Given the description of an element on the screen output the (x, y) to click on. 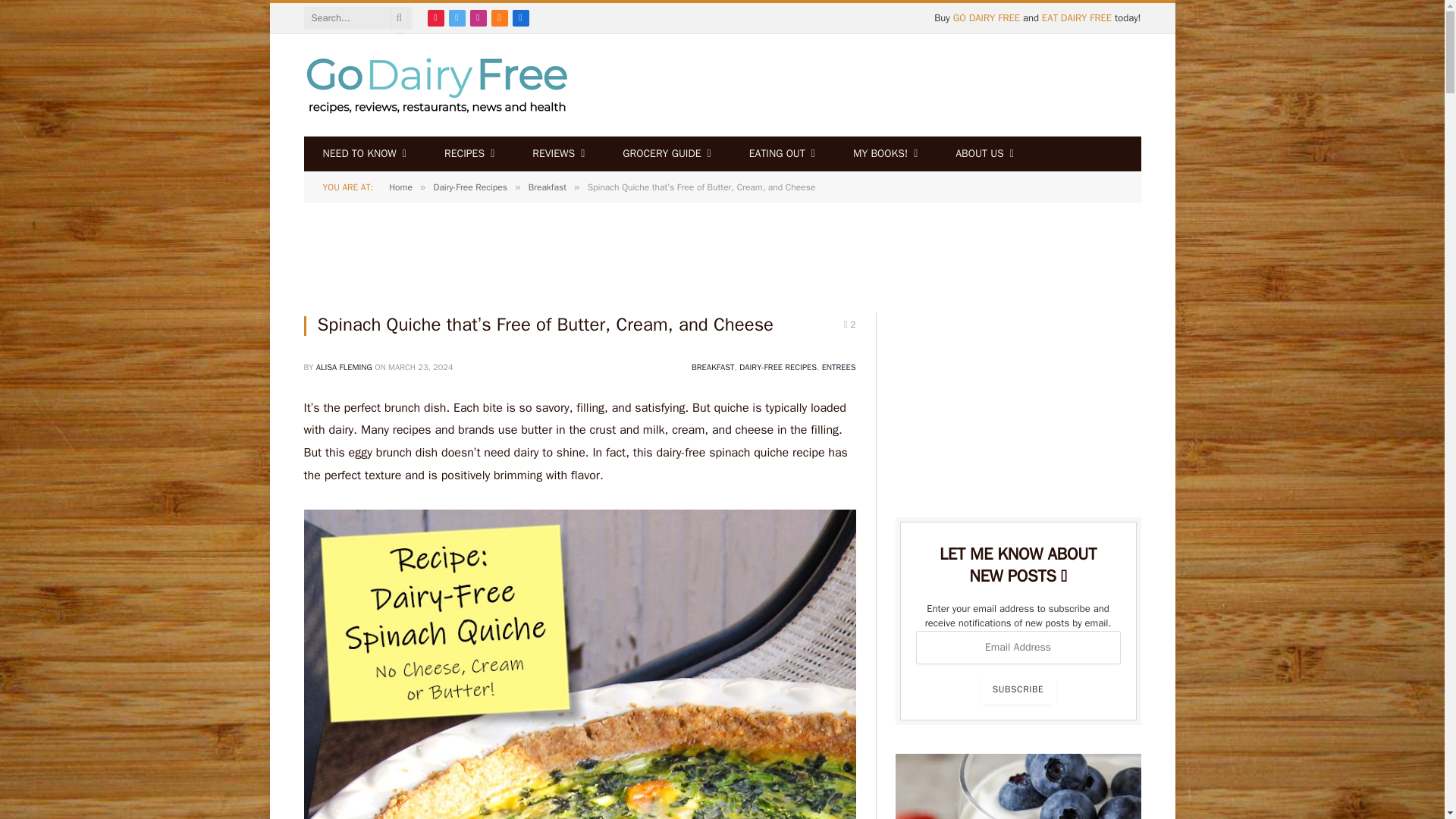
Your Dairy-Free Grocery Shopping Guide (666, 153)
NEED TO KNOW (363, 153)
Restaurant Guide for Food Allergies, Vegans, and More (782, 153)
Instagram (478, 17)
Facebook (520, 17)
Go Dairy Free (435, 84)
RSS (500, 17)
Pinterest (436, 17)
EAT DAIRY FREE (1077, 17)
GO DAIRY FREE (986, 17)
